Given the description of an element on the screen output the (x, y) to click on. 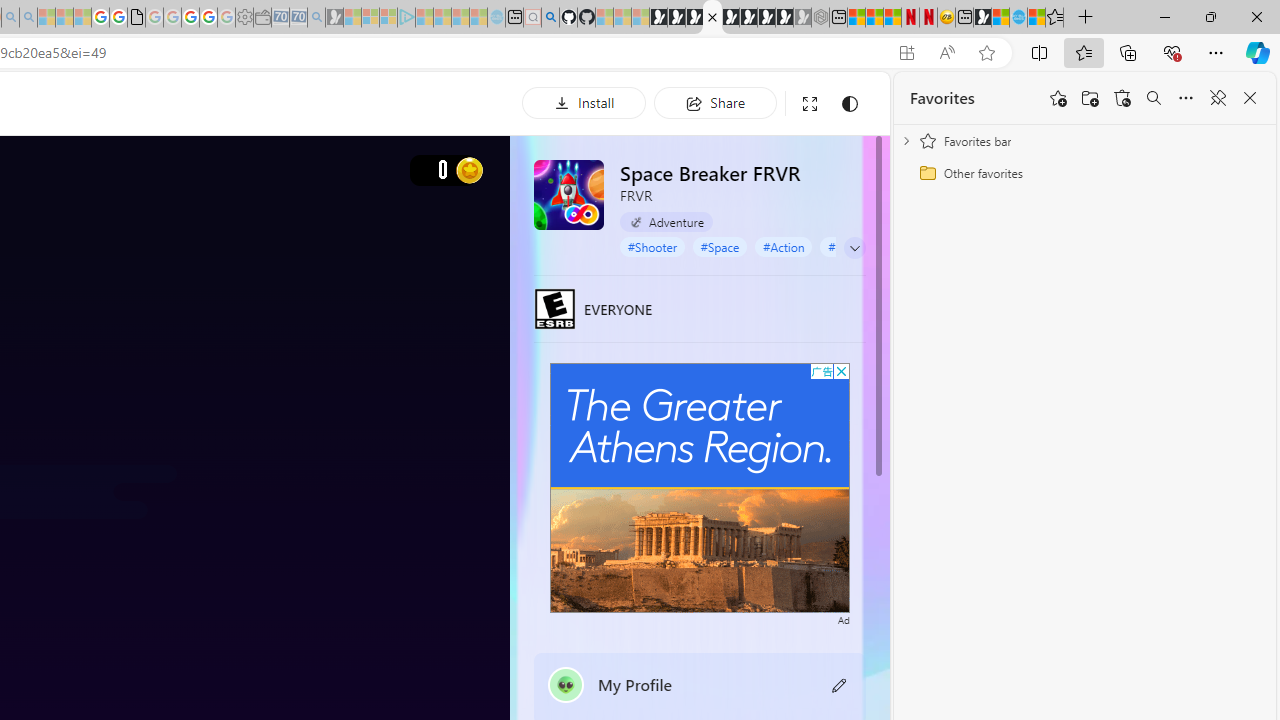
EVERYONE (554, 308)
Full screen (810, 103)
Class: button edit-icon (839, 684)
Class: expand-arrow neutral (854, 247)
Unpin favorites (1217, 98)
Class: control (855, 248)
